Given the description of an element on the screen output the (x, y) to click on. 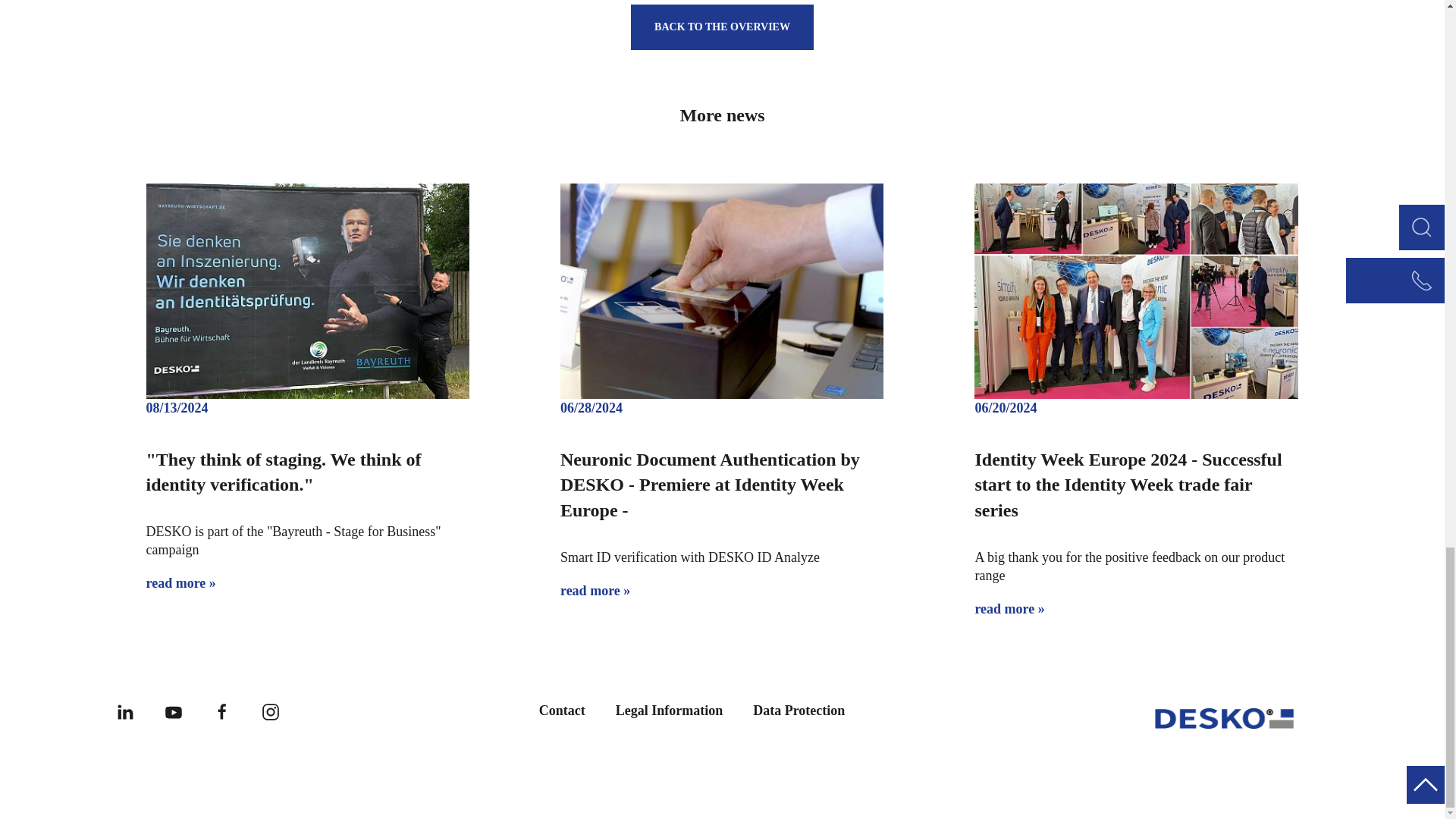
facebook (221, 710)
YouTube (172, 710)
LinkedIn (124, 710)
Instagram (269, 710)
